Given the description of an element on the screen output the (x, y) to click on. 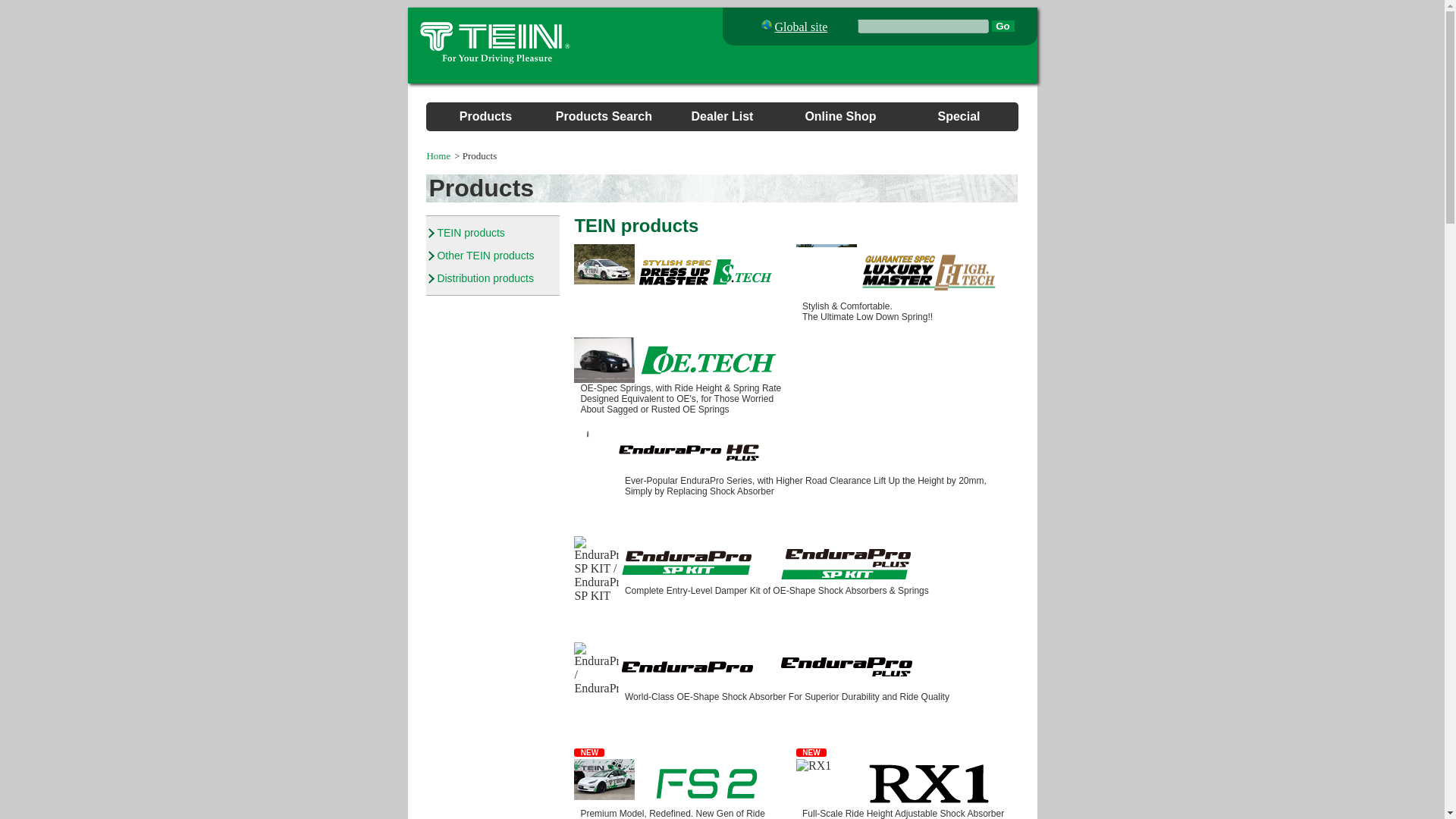
Products (486, 115)
Go (1002, 25)
Home (437, 155)
Products Search (604, 115)
Dealer List (722, 115)
Go (1002, 25)
Special (958, 115)
Online Shop (840, 115)
TEIN products (469, 232)
Distribution products (485, 277)
Other TEIN products (485, 255)
Global site (801, 26)
